Given the description of an element on the screen output the (x, y) to click on. 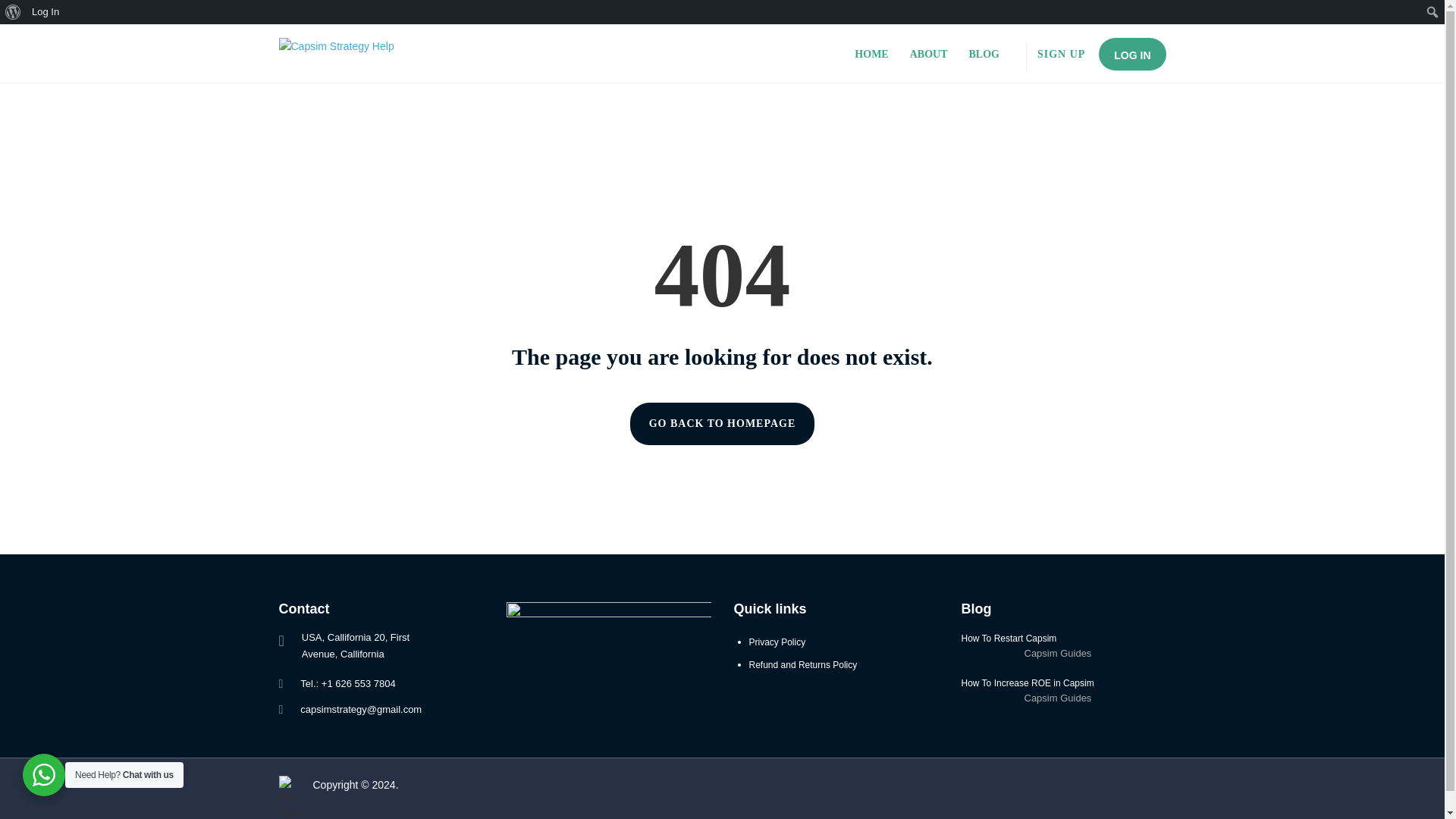
Log In (45, 12)
GO BACK TO HOMEPAGE (722, 423)
SIGN UP (1060, 54)
HOME (871, 54)
How To Restart Capsim (1063, 638)
Privacy Policy (777, 642)
Need Help? Chat with us (44, 774)
ABOUT (928, 54)
Capsim Guides (1056, 697)
Search (16, 13)
How To Increase ROE in Capsim (1063, 683)
Refund and Returns Policy (803, 665)
LOG IN (1132, 53)
BLOG (983, 54)
Capsim Guides (1056, 653)
